Given the description of an element on the screen output the (x, y) to click on. 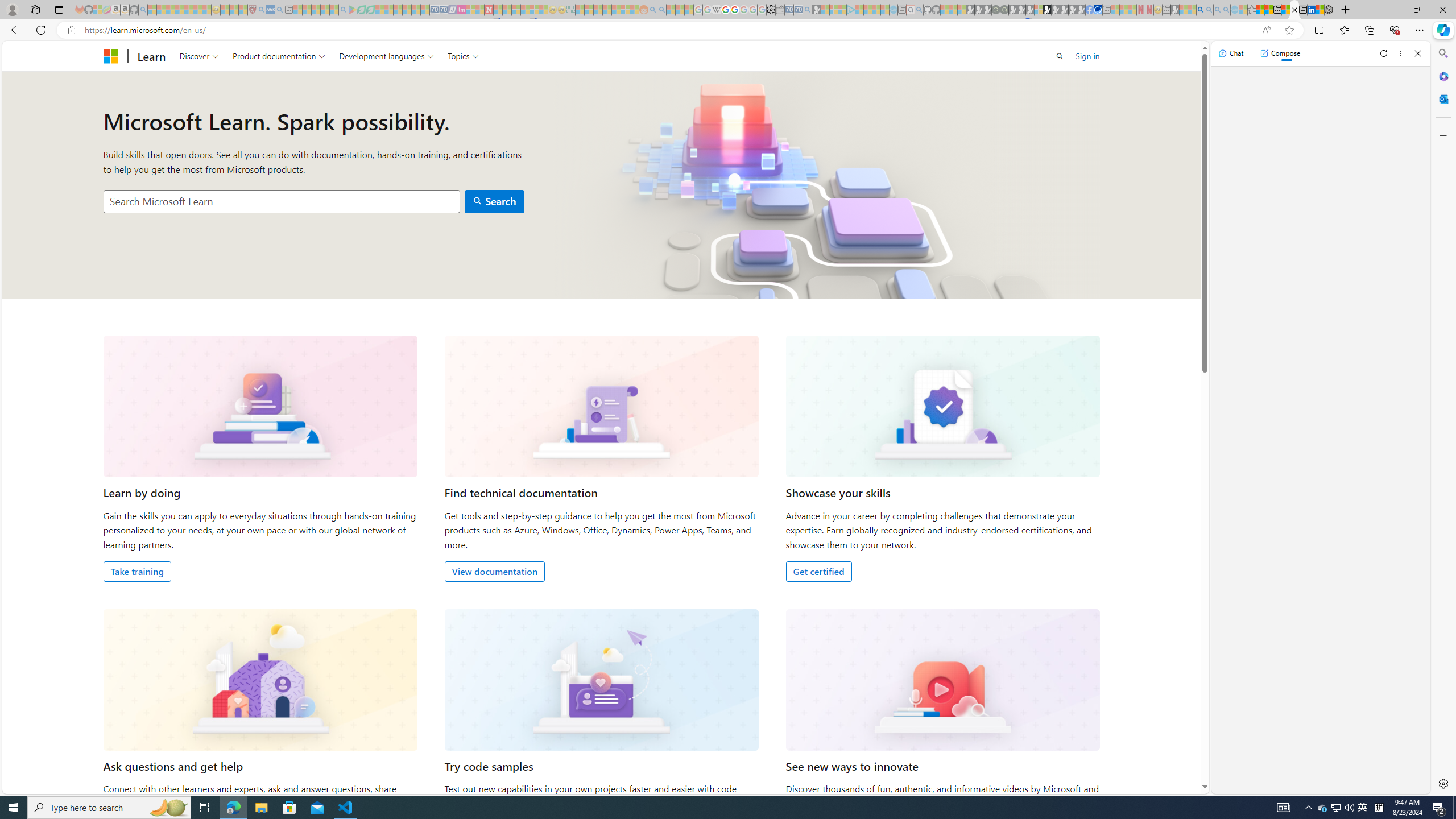
AQI & Health | AirNow.gov (1098, 9)
Product documentation (278, 55)
